Given the description of an element on the screen output the (x, y) to click on. 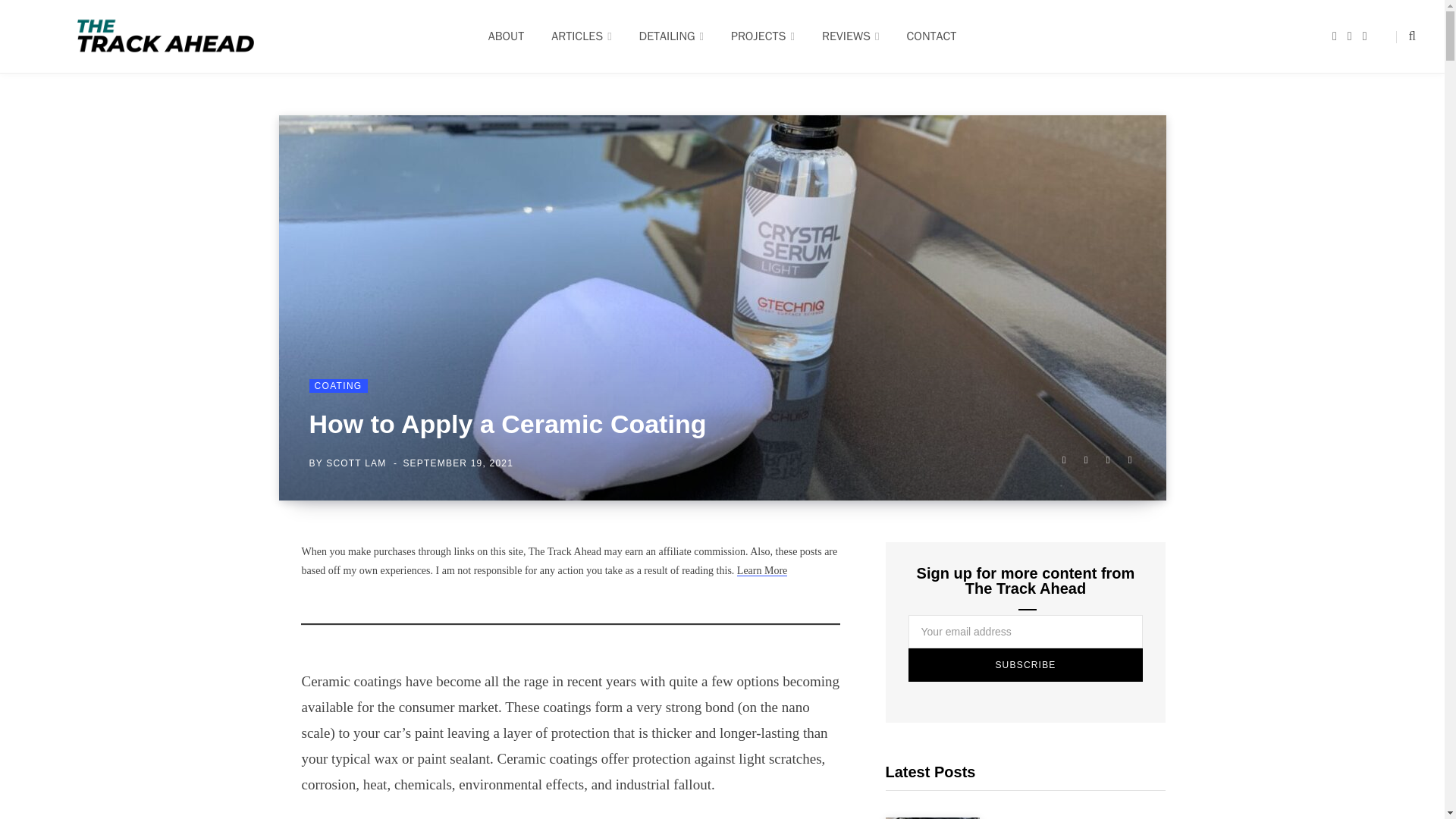
The Track Ahead (165, 36)
ARTICLES (580, 36)
DETAILING (671, 36)
Subscribe (1025, 664)
